Given the description of an element on the screen output the (x, y) to click on. 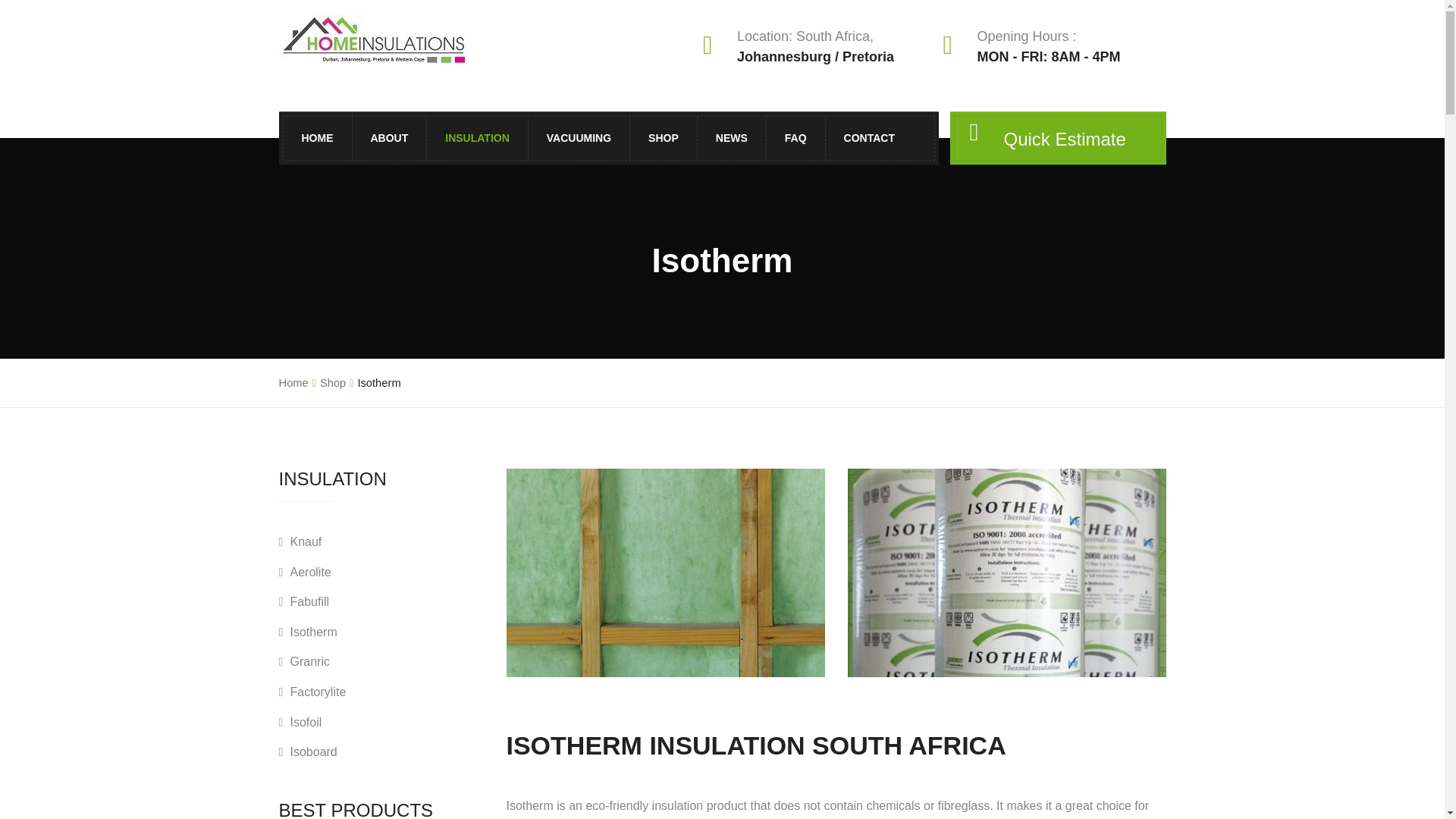
isotherm prices (1006, 572)
Granric (608, 333)
Think Pink Insulation (608, 345)
DIY Aerolite (608, 378)
Factorylite (608, 366)
ABOUT (388, 137)
Isotherm Installers (608, 509)
100mm Knauf (608, 247)
Cavitybatt (608, 431)
135mm Knauf (608, 214)
50mm Knauf (608, 313)
40mm Isotherm (608, 477)
INSULATION (477, 137)
Fabufill (608, 268)
DIY Isotherm (608, 542)
